Given the description of an element on the screen output the (x, y) to click on. 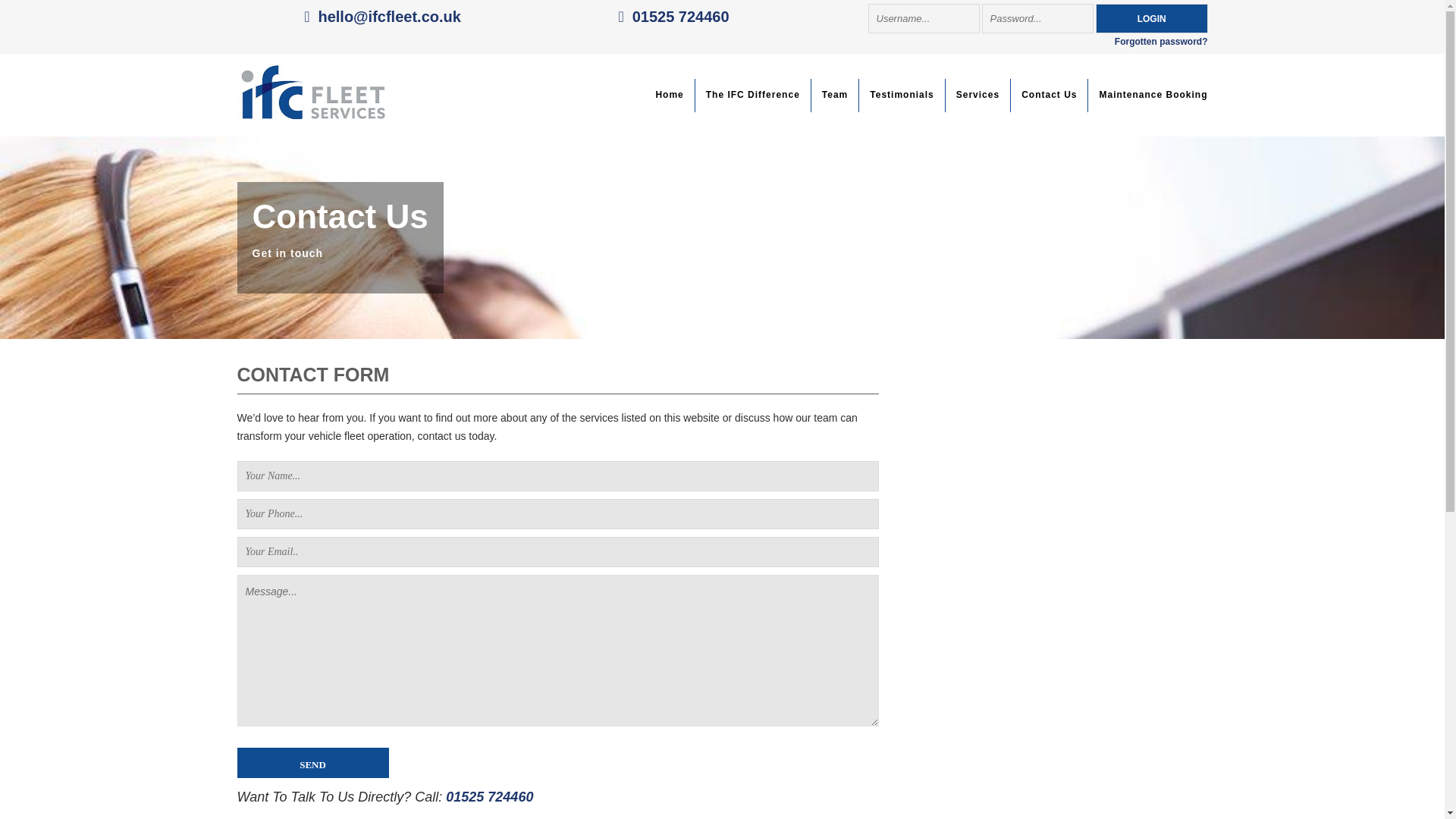
Login (1152, 18)
Team (834, 95)
The IFC Difference (752, 95)
Send (311, 762)
tel:01525 724460 (488, 796)
Send (311, 762)
Forgotten password? (1161, 41)
Call Us (673, 16)
01525 724460 (488, 796)
01525 724460 (673, 16)
Home (669, 95)
Testimonials (901, 95)
Email Us (382, 16)
Login (1152, 18)
Contact Us (1048, 95)
